Given the description of an element on the screen output the (x, y) to click on. 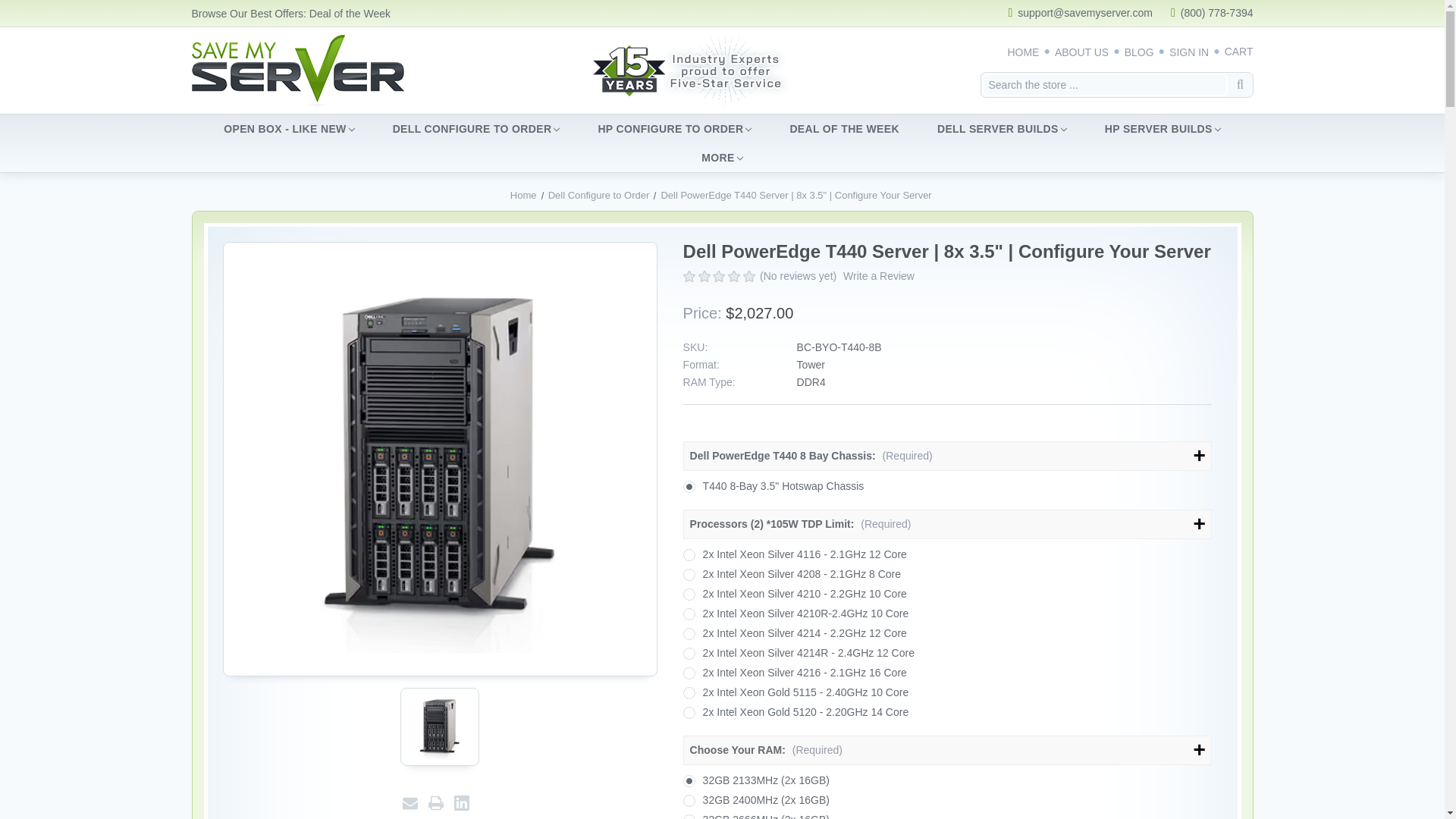
Print (436, 803)
HOME (1023, 51)
Linkedin (461, 803)
Browse Our Best Offers: Deal of the Week (290, 13)
CART (1238, 51)
BLOG (1139, 51)
OPEN BOX - LIKE NEW (288, 128)
Email (410, 803)
